Given the description of an element on the screen output the (x, y) to click on. 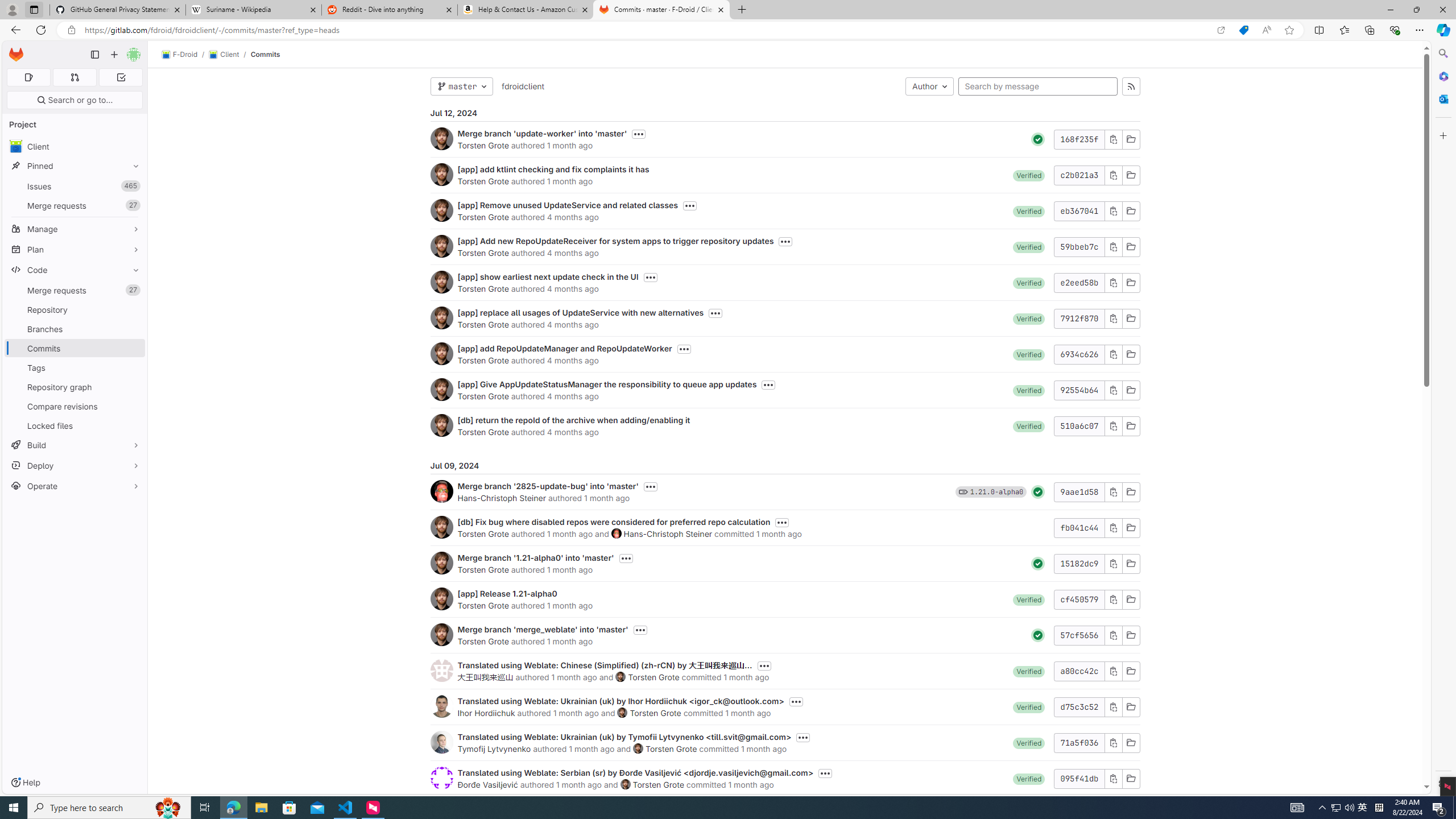
Unpin Issues (132, 186)
Merge branch 'update-worker' into 'master' (542, 133)
Homepage (16, 54)
[app] add ktlint checking and fix complaints it has (553, 168)
fdroidclient (522, 85)
Manage (74, 228)
